Given the description of an element on the screen output the (x, y) to click on. 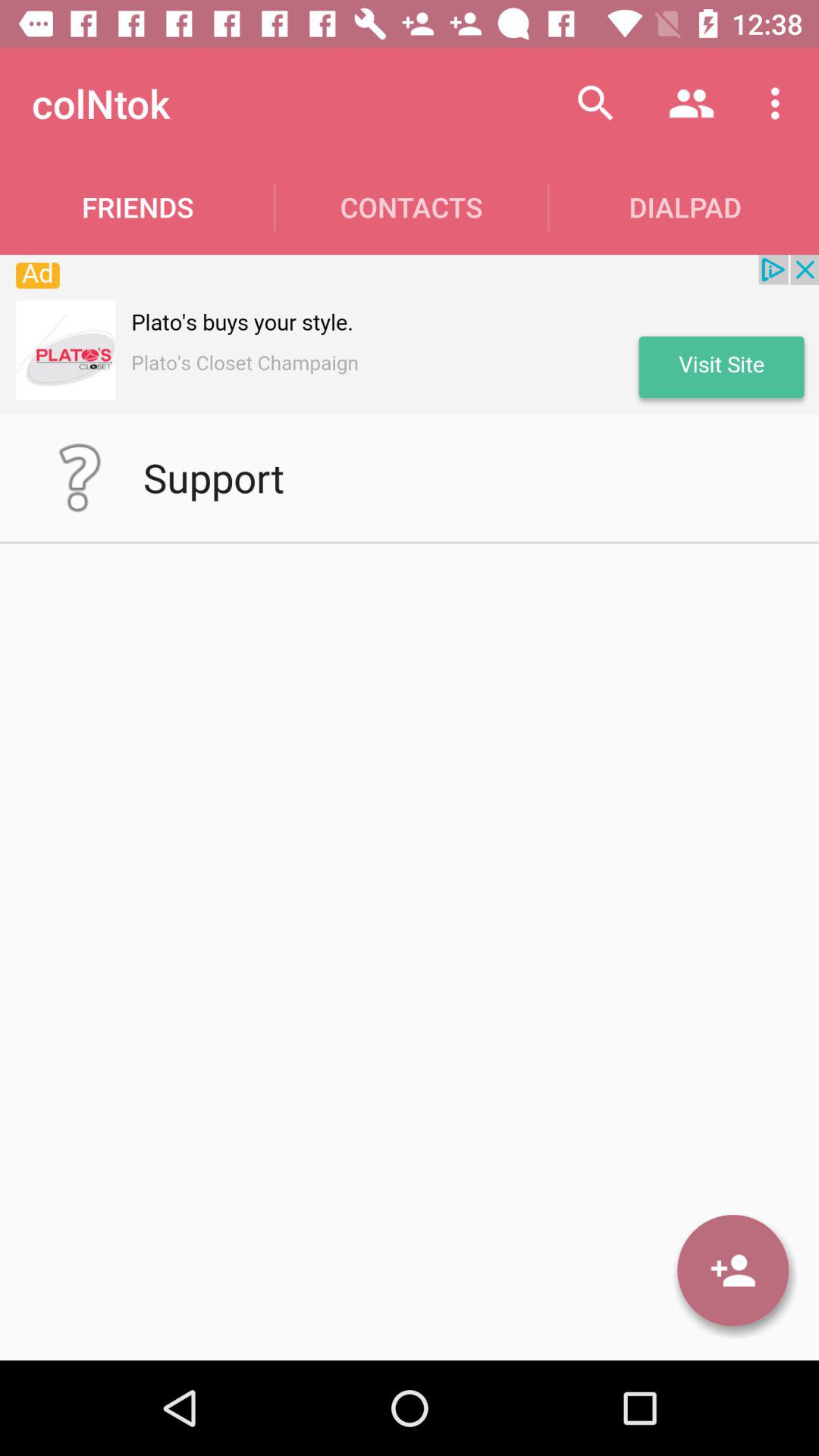
get help (79, 477)
